Given the description of an element on the screen output the (x, y) to click on. 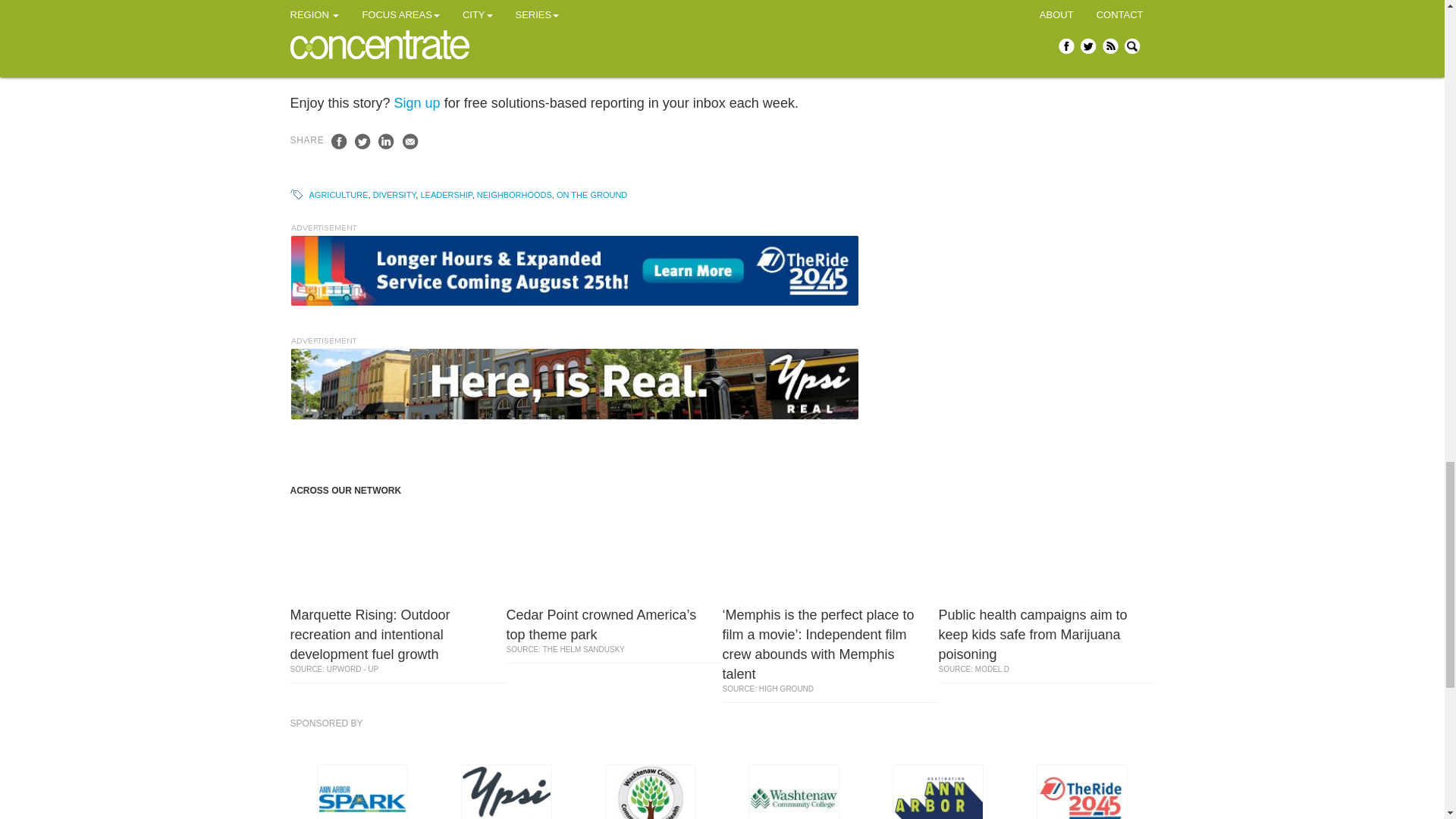
Washtenaw Community College (794, 791)
View more stories related to Agriculture (338, 194)
The Ride (574, 270)
View more stories related to Leadership (445, 194)
Center for Health and Research Transformation (650, 791)
Ypsi Real  (506, 791)
View more stories related to Neighborhoods (514, 194)
View more stories related to On the Ground (591, 194)
Spark. Affordable Office Spaces  (362, 791)
View more stories related to Diversity (394, 194)
